Given the description of an element on the screen output the (x, y) to click on. 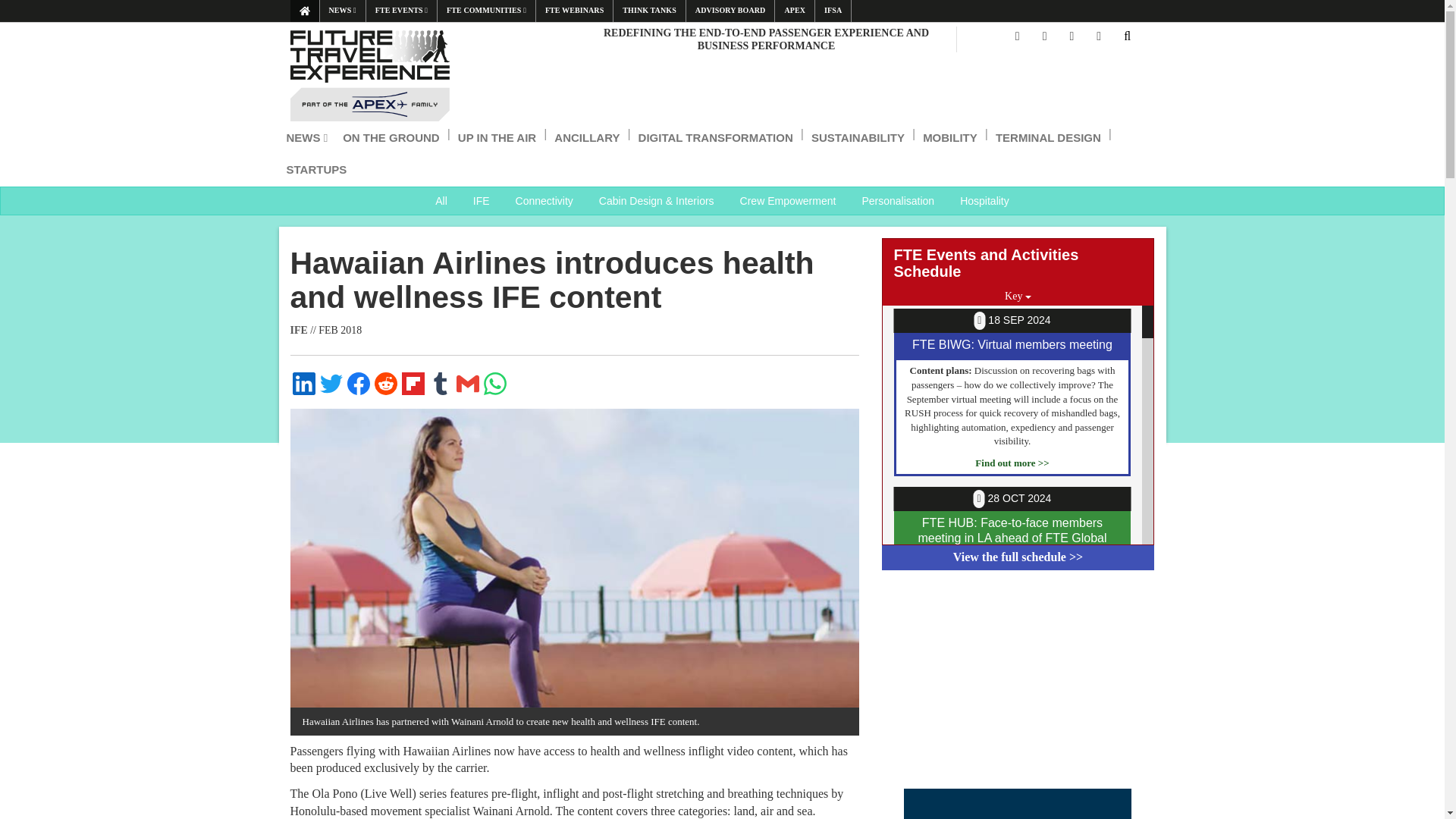
FTE EVENTS (401, 11)
FTE COMMUNITIES (486, 11)
THINK TANKS (648, 11)
NEWS (342, 11)
APEX (793, 11)
3rd party ad content (1017, 682)
FTE WEBINARS (573, 11)
IFSA (832, 11)
ADVISORY BOARD (729, 11)
